Given the description of an element on the screen output the (x, y) to click on. 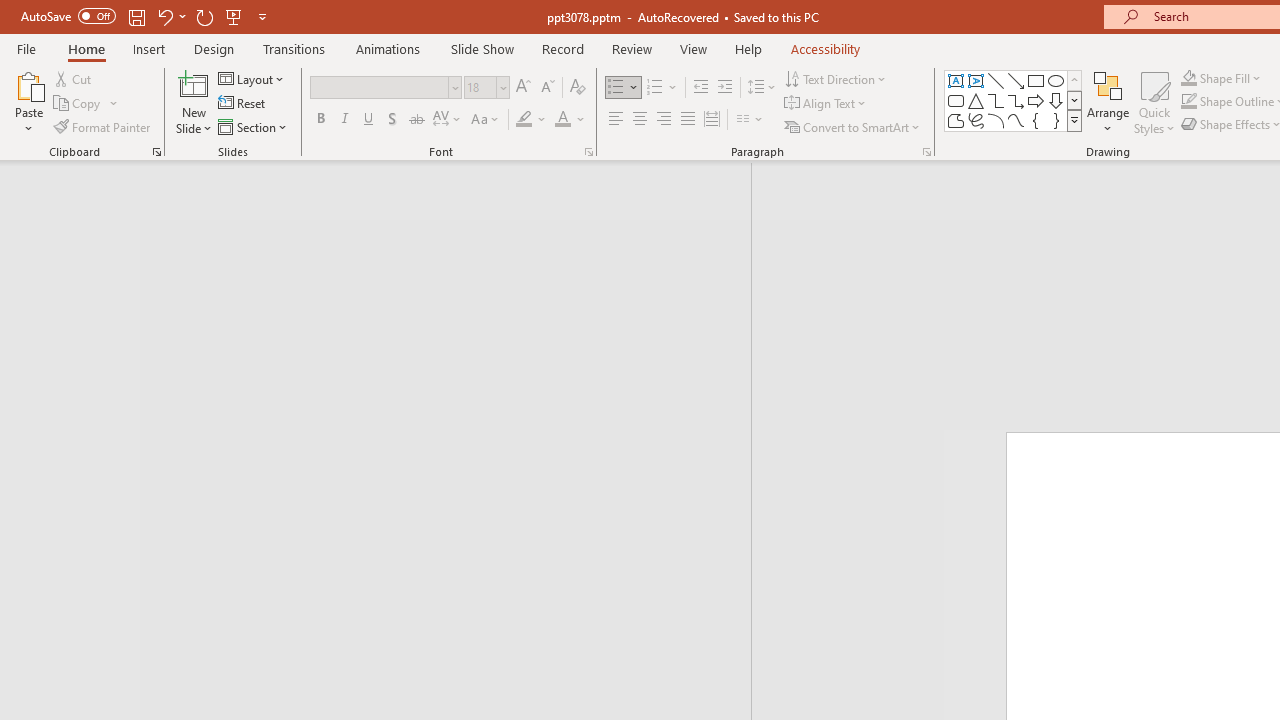
Paste (28, 84)
Animations (388, 48)
Decrease Font Size (547, 87)
Shadow (392, 119)
Reset (243, 103)
View (693, 48)
Bullets (623, 87)
Text Box (955, 80)
Copy (78, 103)
Align Left (616, 119)
Numbering (661, 87)
Freeform: Shape (955, 120)
Insert (149, 48)
